Given the description of an element on the screen output the (x, y) to click on. 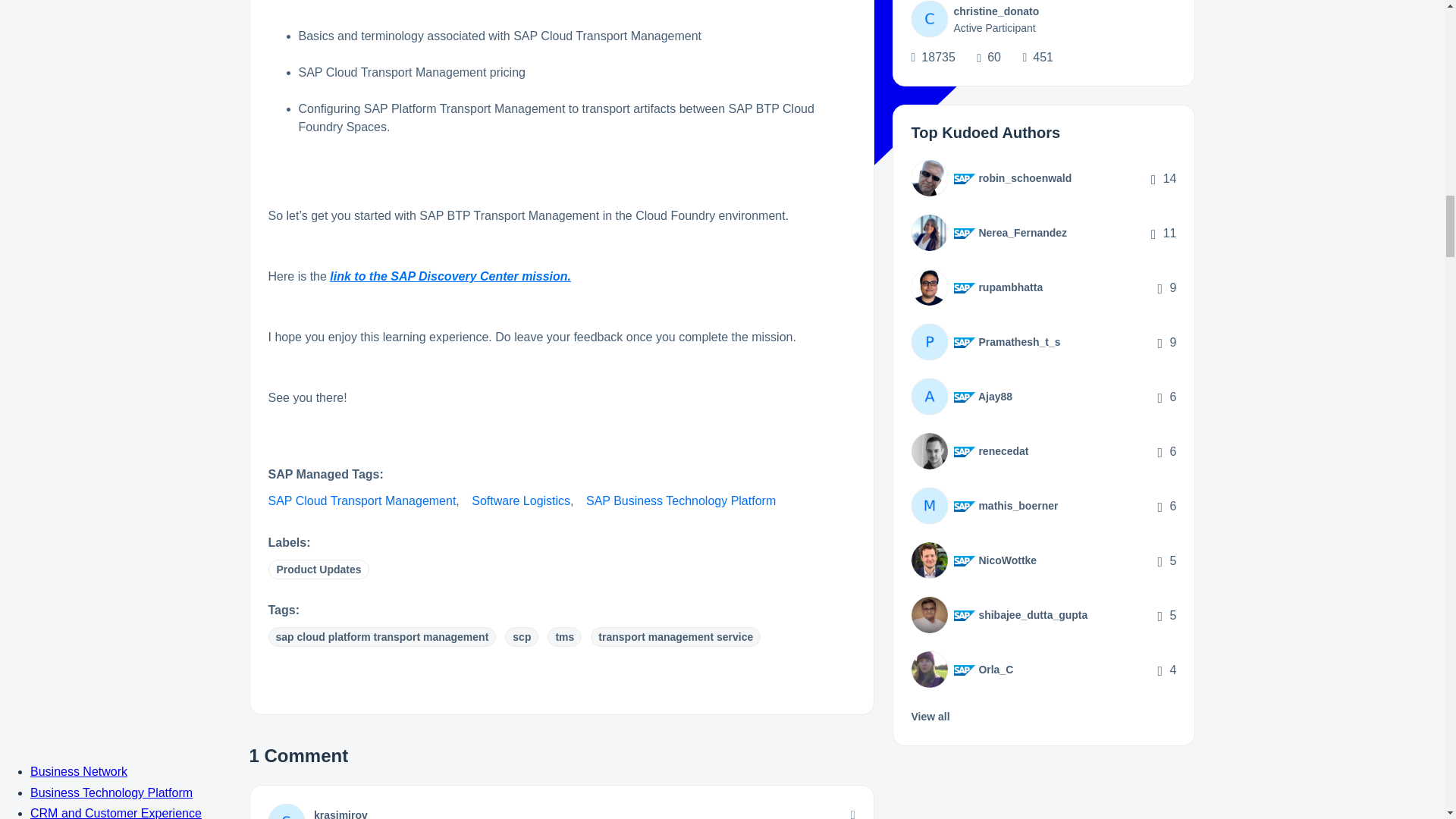
sap cloud platform transport management (381, 637)
SAP Business Technology Platform (681, 500)
tms (563, 637)
link to the SAP Discovery Center mission. (450, 276)
SAP Cloud Transport Management (362, 500)
krasimirov (341, 814)
Product Updates (318, 569)
Software Logistics (520, 500)
transport management service (675, 637)
scp (521, 637)
